Given the description of an element on the screen output the (x, y) to click on. 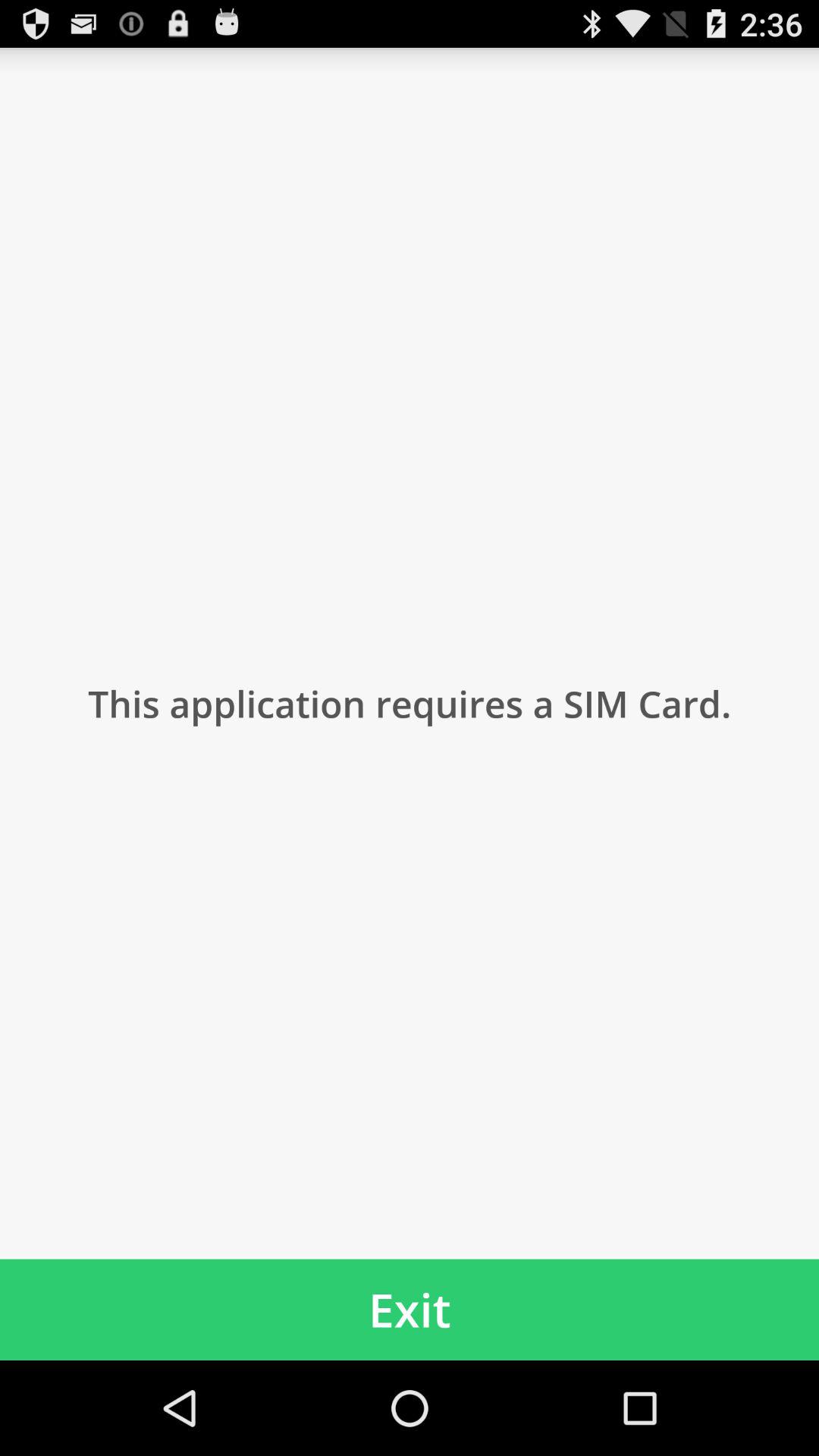
choose icon at the bottom (409, 1309)
